Given the description of an element on the screen output the (x, y) to click on. 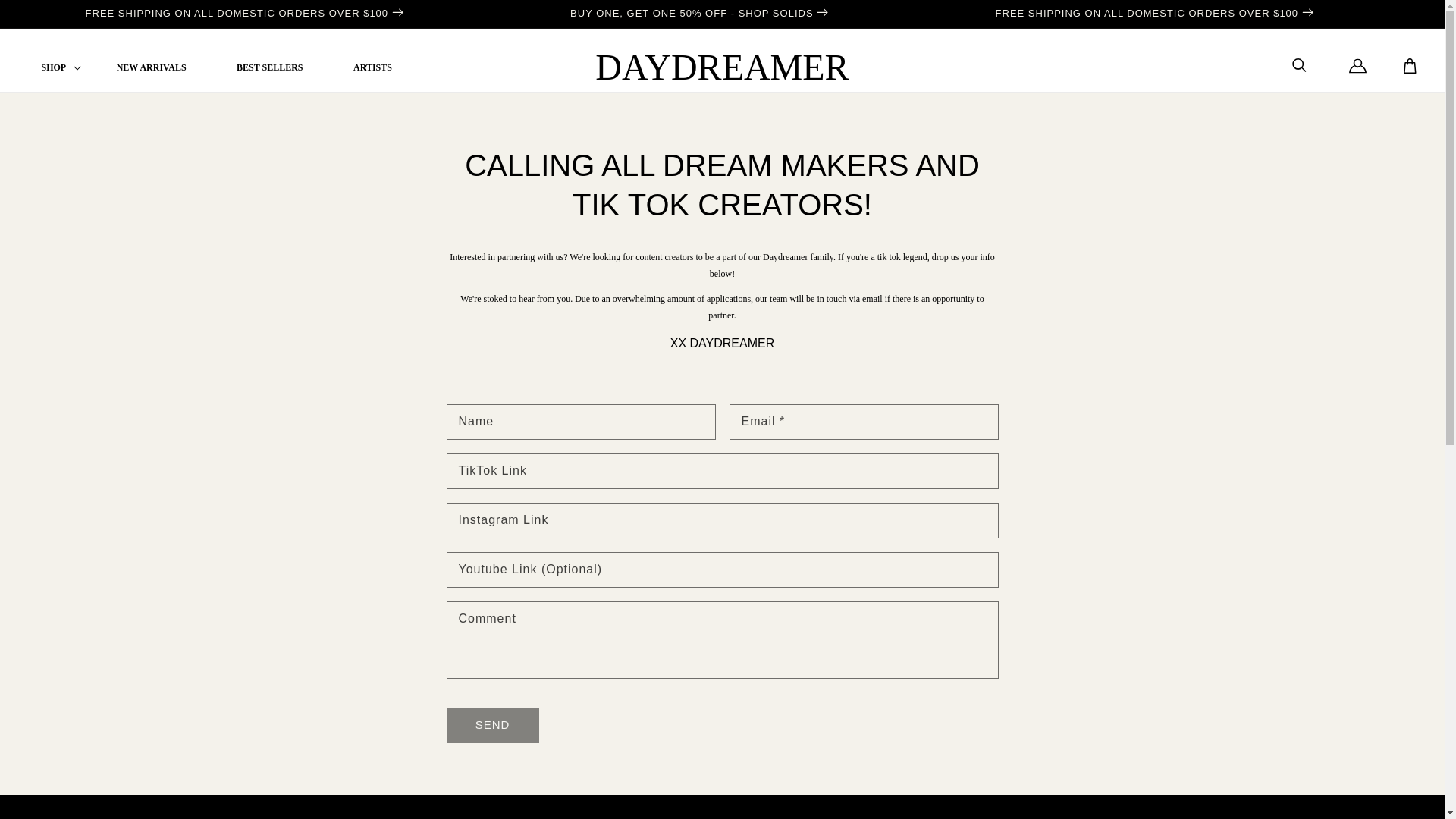
SEARCH (1299, 65)
SKIP TO CONTENT (45, 16)
